Given the description of an element on the screen output the (x, y) to click on. 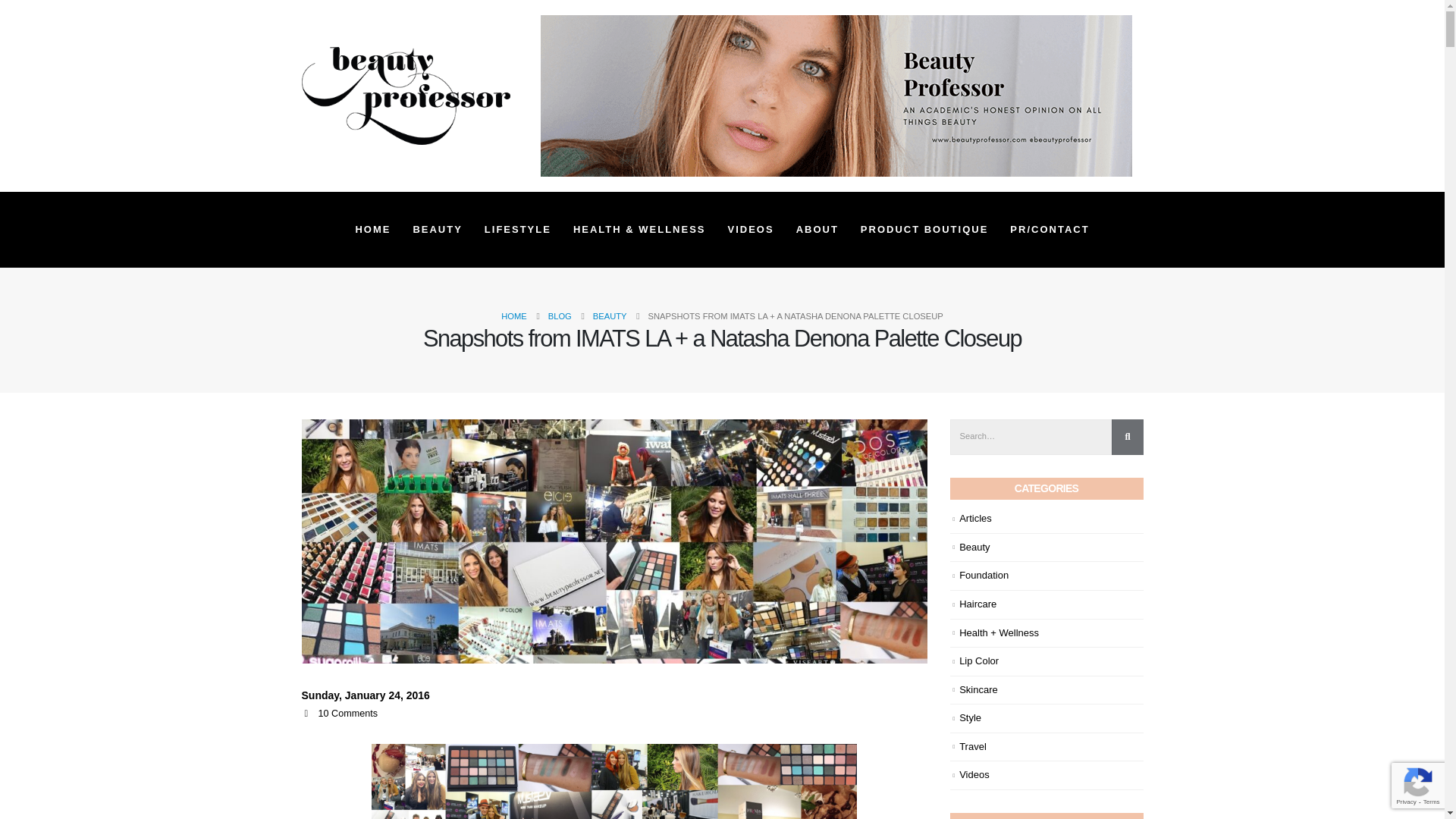
BEAUTY (436, 229)
LIFESTYLE (518, 229)
HOME (372, 229)
10 Comments (347, 713)
Beauty Professor - My WordPress Blog (406, 95)
Go to Home Page (513, 316)
